Given the description of an element on the screen output the (x, y) to click on. 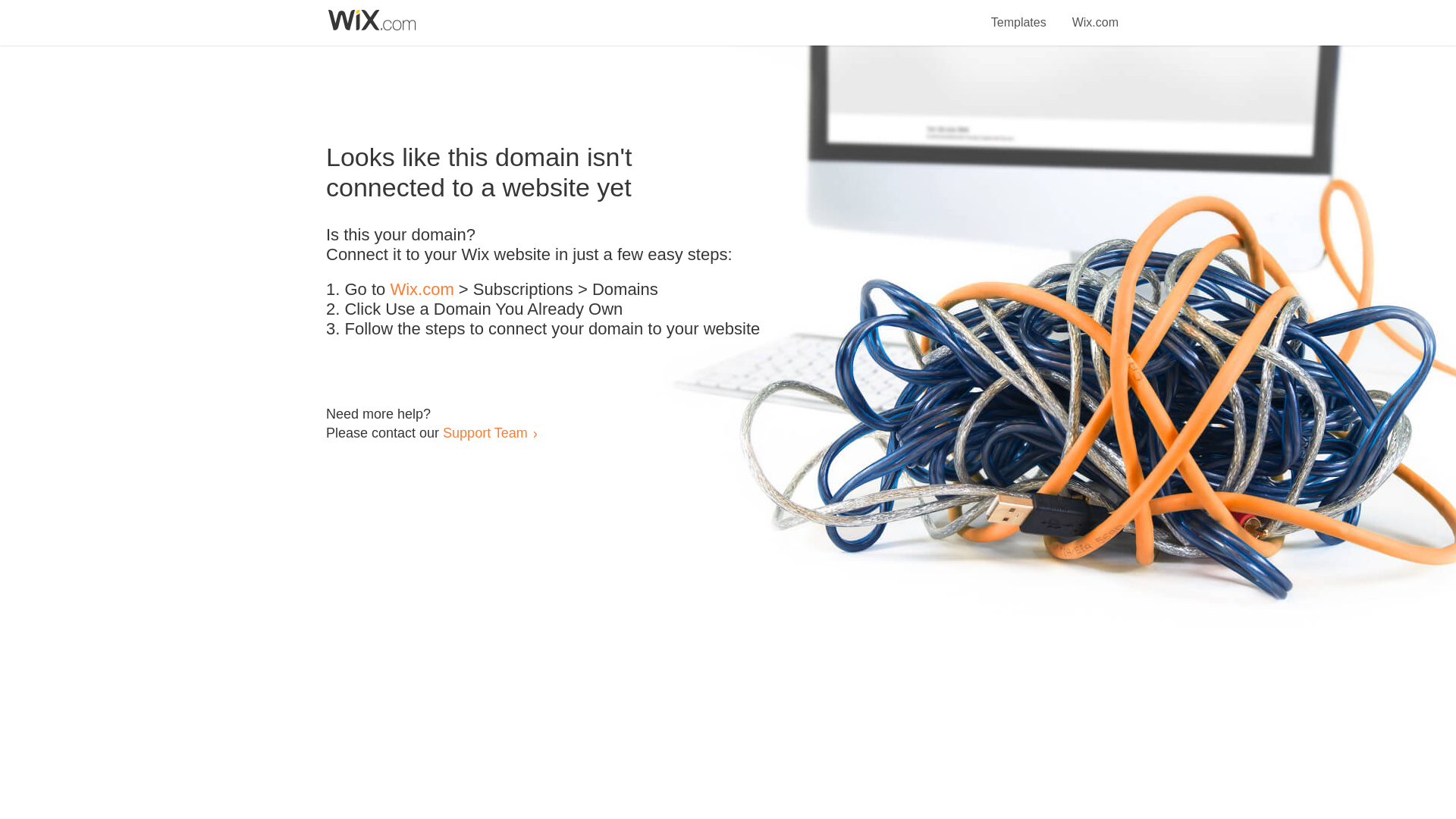
Templates (1018, 14)
Wix.com (421, 289)
Support Team (484, 432)
Wix.com (1095, 14)
